Given the description of an element on the screen output the (x, y) to click on. 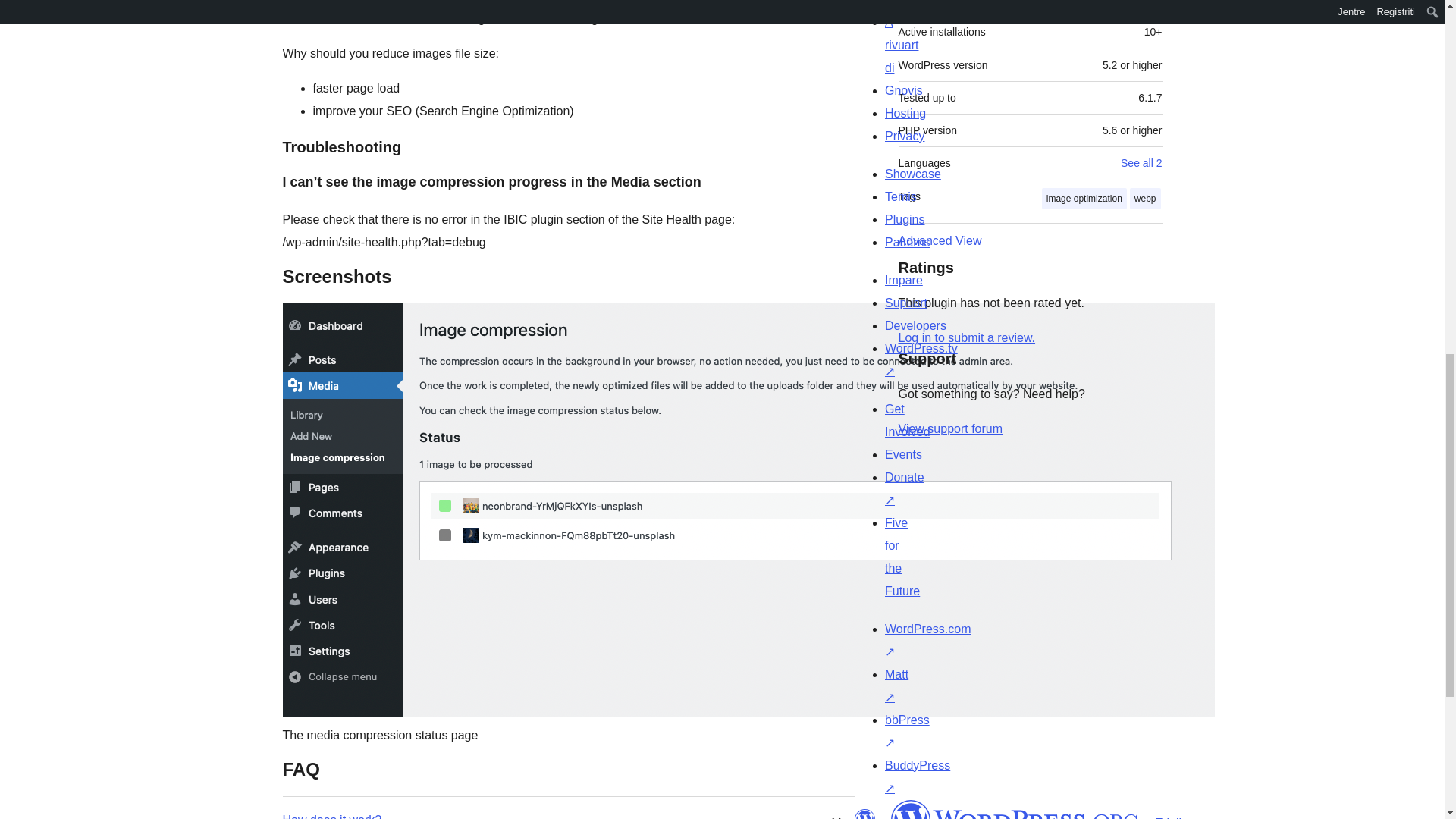
WordPress.org (864, 814)
How does it work? (331, 816)
WordPress.org (1014, 809)
Log in to WordPress.org (966, 337)
